Given the description of an element on the screen output the (x, y) to click on. 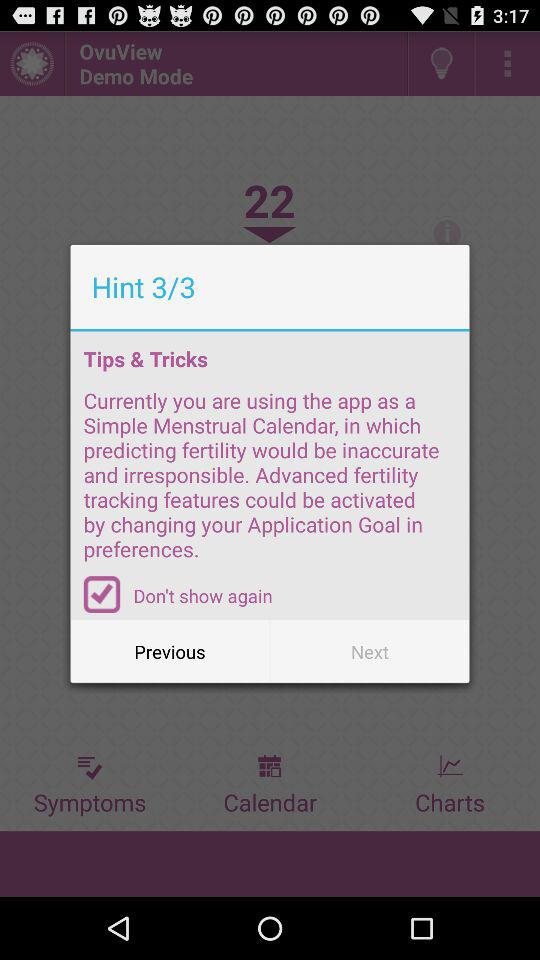
press item to the right of the previous icon (369, 651)
